Given the description of an element on the screen output the (x, y) to click on. 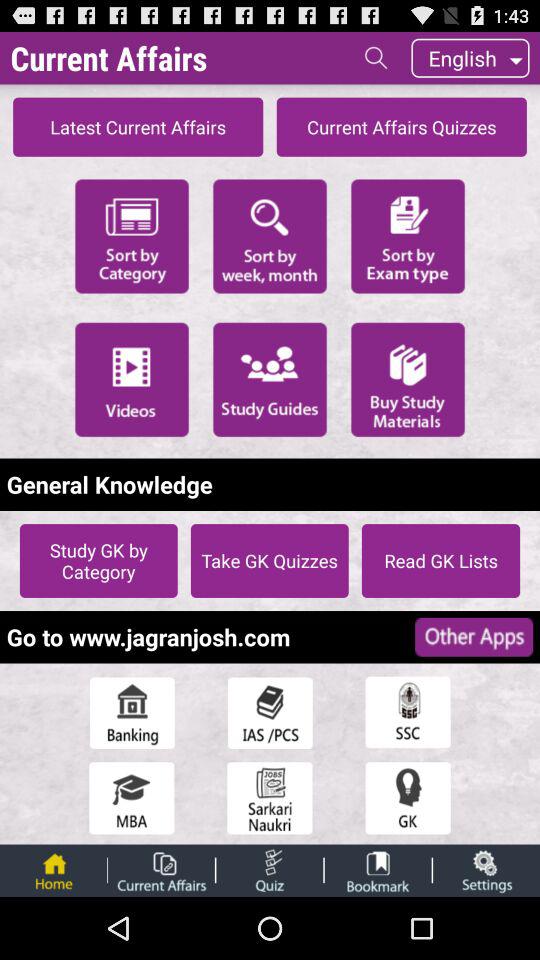
sort options (269, 234)
